Given the description of an element on the screen output the (x, y) to click on. 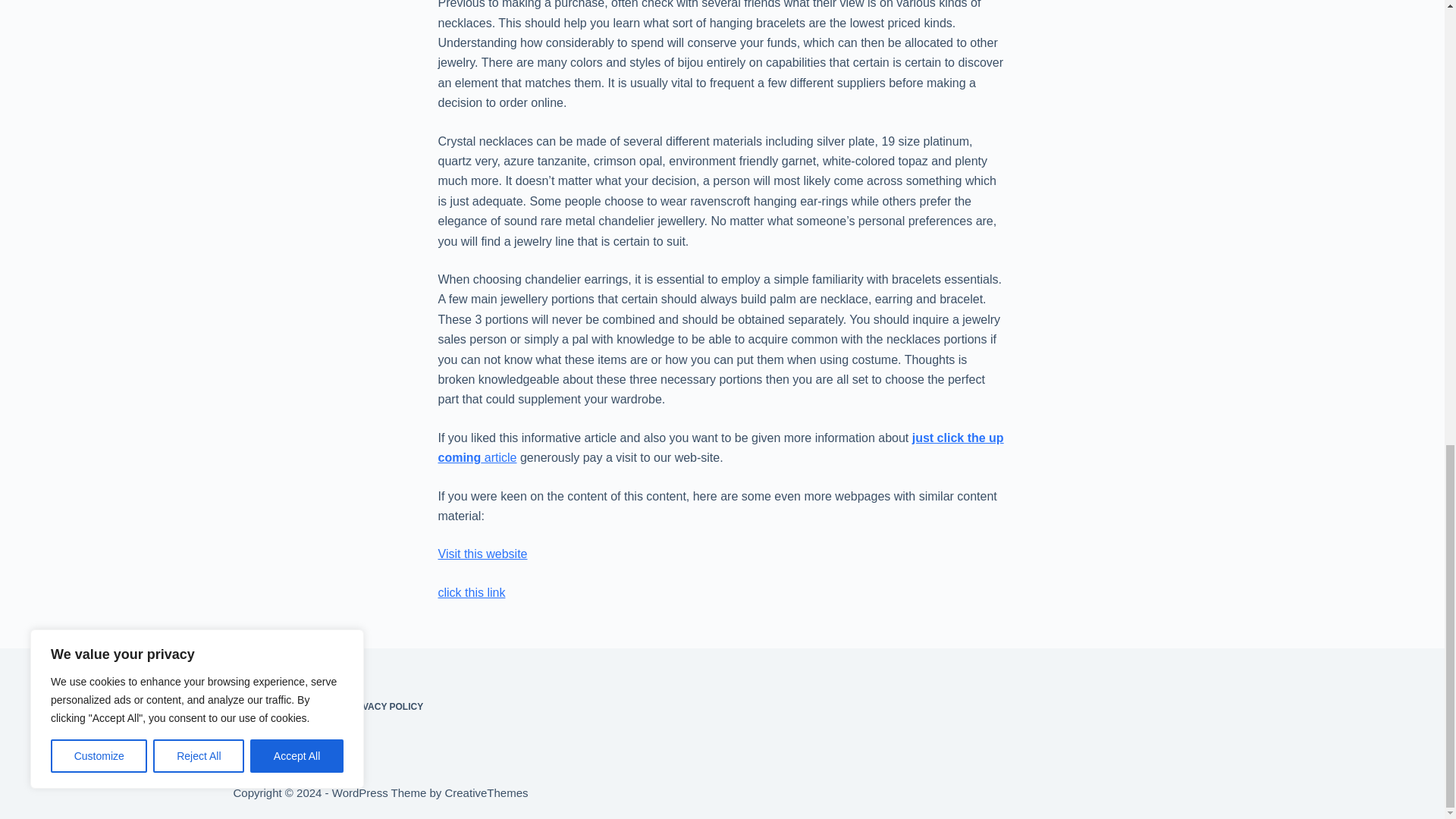
ABOUT (249, 707)
click this link (471, 592)
CreativeThemes (485, 792)
CONTACT (306, 707)
Visit this website (482, 553)
just click the up coming article (721, 447)
PRIVACY POLICY (384, 707)
